Given the description of an element on the screen output the (x, y) to click on. 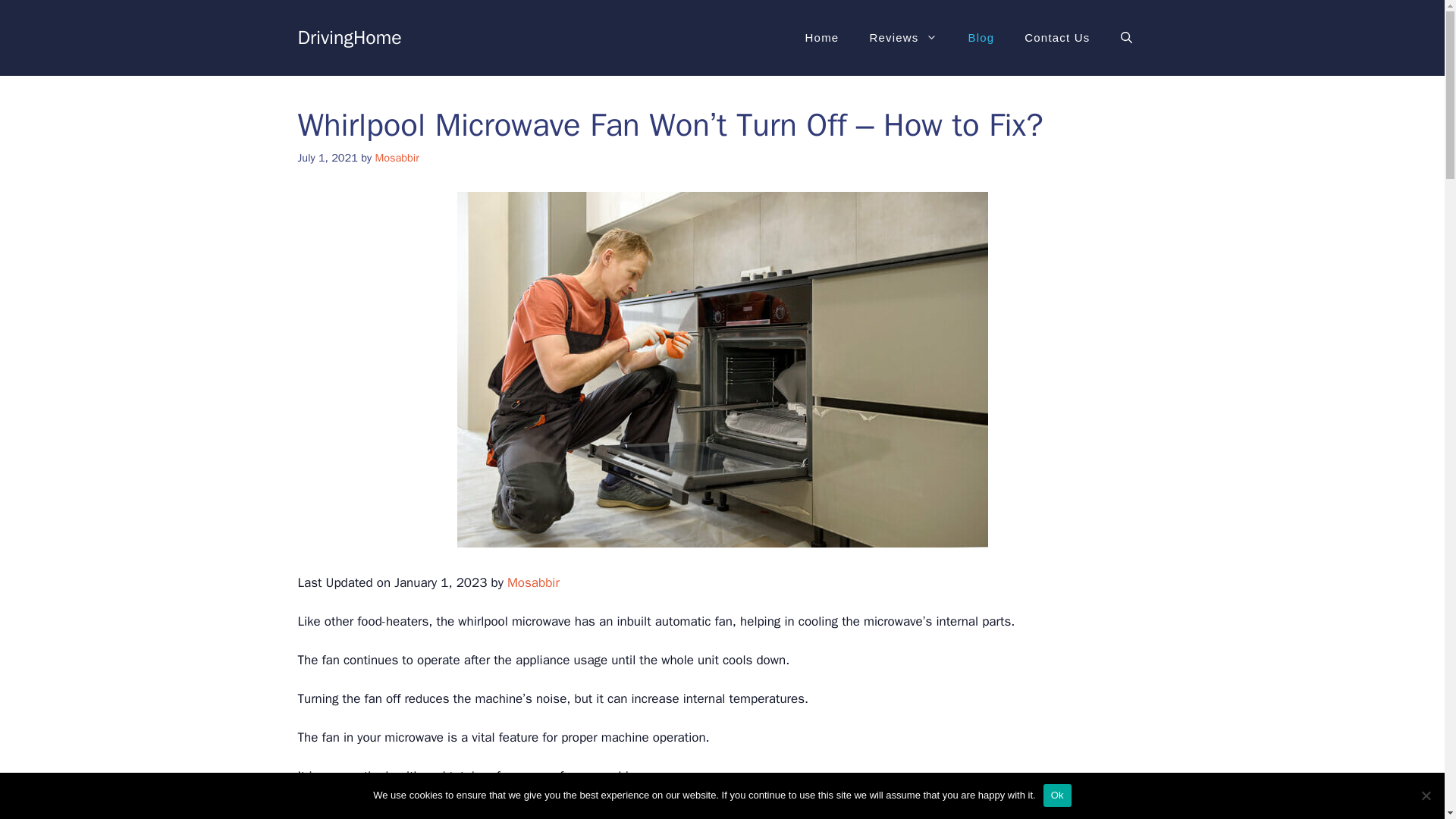
Ok (1057, 794)
Home (822, 37)
Mosabbir (532, 582)
Blog (980, 37)
No (1425, 795)
Contact Us (1057, 37)
View all posts by Mosabbir (396, 157)
Reviews (902, 37)
Mosabbir (396, 157)
DrivingHome (349, 37)
